Given the description of an element on the screen output the (x, y) to click on. 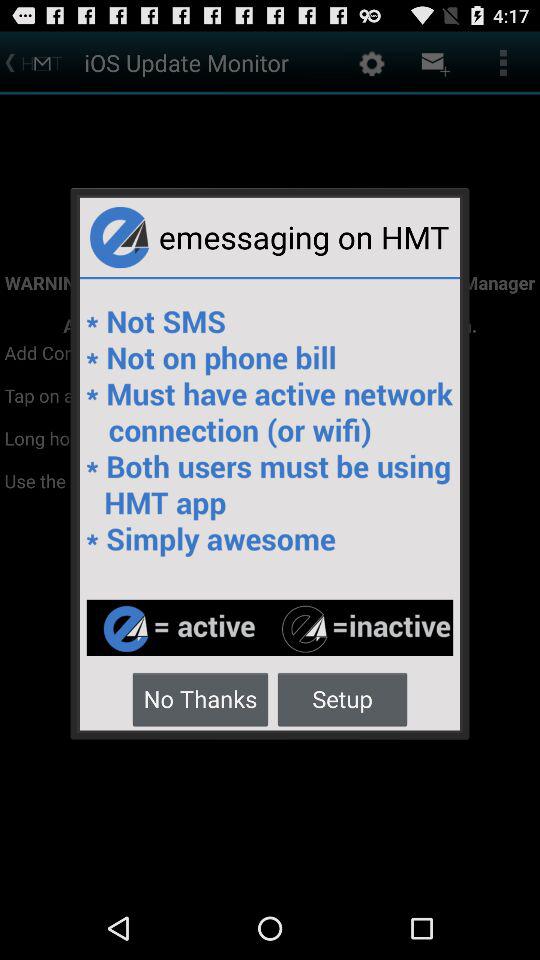
press the icon to the right of no thanks button (342, 698)
